Given the description of an element on the screen output the (x, y) to click on. 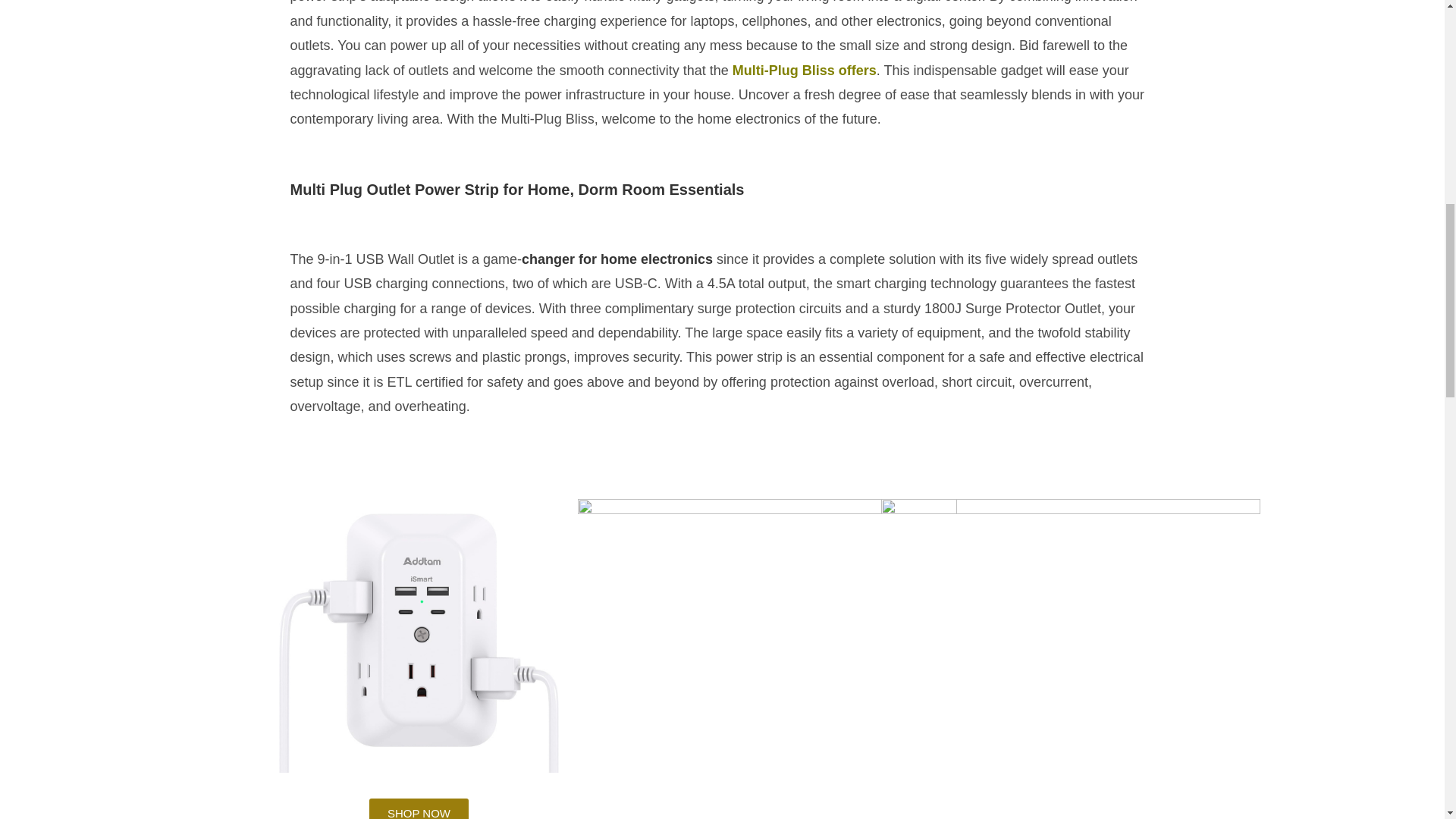
Multi-Plug Bliss offers (804, 70)
changer for home electronics (618, 258)
Multi Plug Outlet Power Strip for Home, Dorm Room Essentials (516, 189)
SHOP NOW (418, 808)
